Given the description of an element on the screen output the (x, y) to click on. 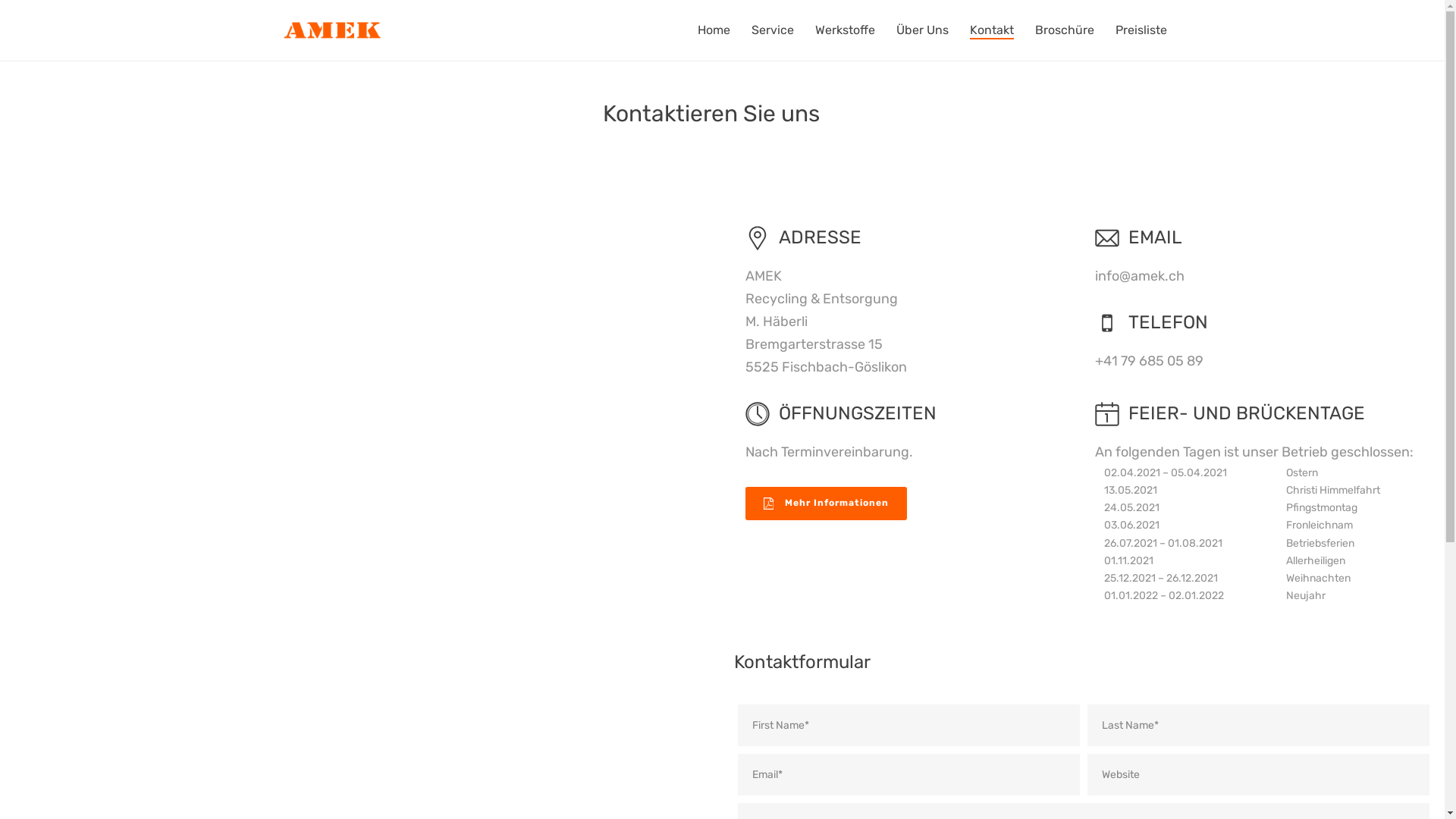
Preisliste Element type: text (1140, 30)
Werkstoffe Element type: text (843, 30)
Home Element type: text (713, 30)
Service Element type: text (771, 30)
Mehr Informationen Element type: text (825, 503)
Kontakt Element type: text (990, 30)
Recycling & Entsorgung Element type: hover (331, 29)
